Given the description of an element on the screen output the (x, y) to click on. 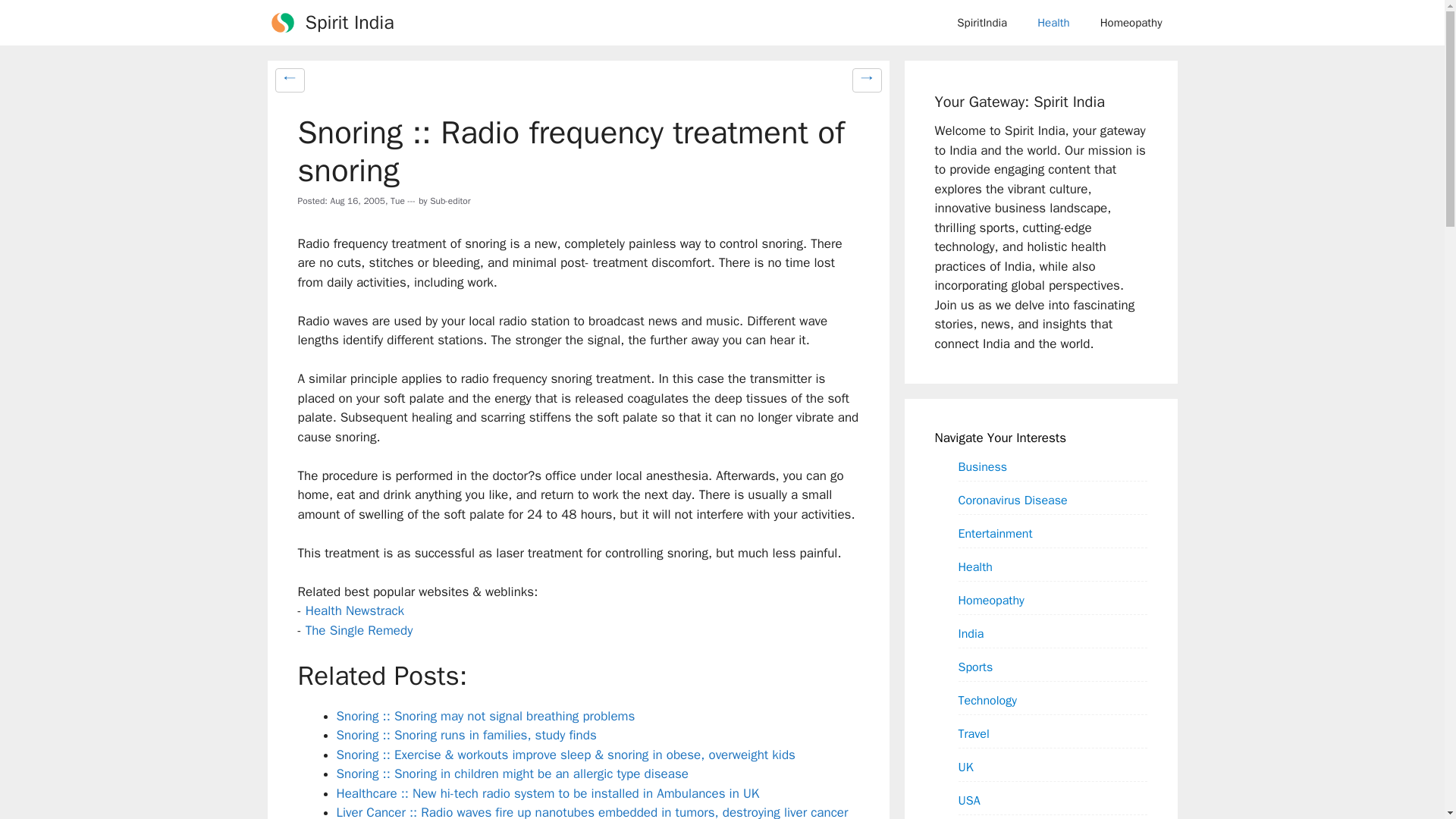
India (971, 633)
Snoring :: Snoring may not signal breathing problems (485, 715)
Business (982, 466)
Snoring :: Snoring runs in families, study finds (466, 734)
Homeopathy (991, 600)
Travel (974, 733)
Homeopathy (1130, 22)
Health (1053, 22)
Technology (987, 700)
